Given the description of an element on the screen output the (x, y) to click on. 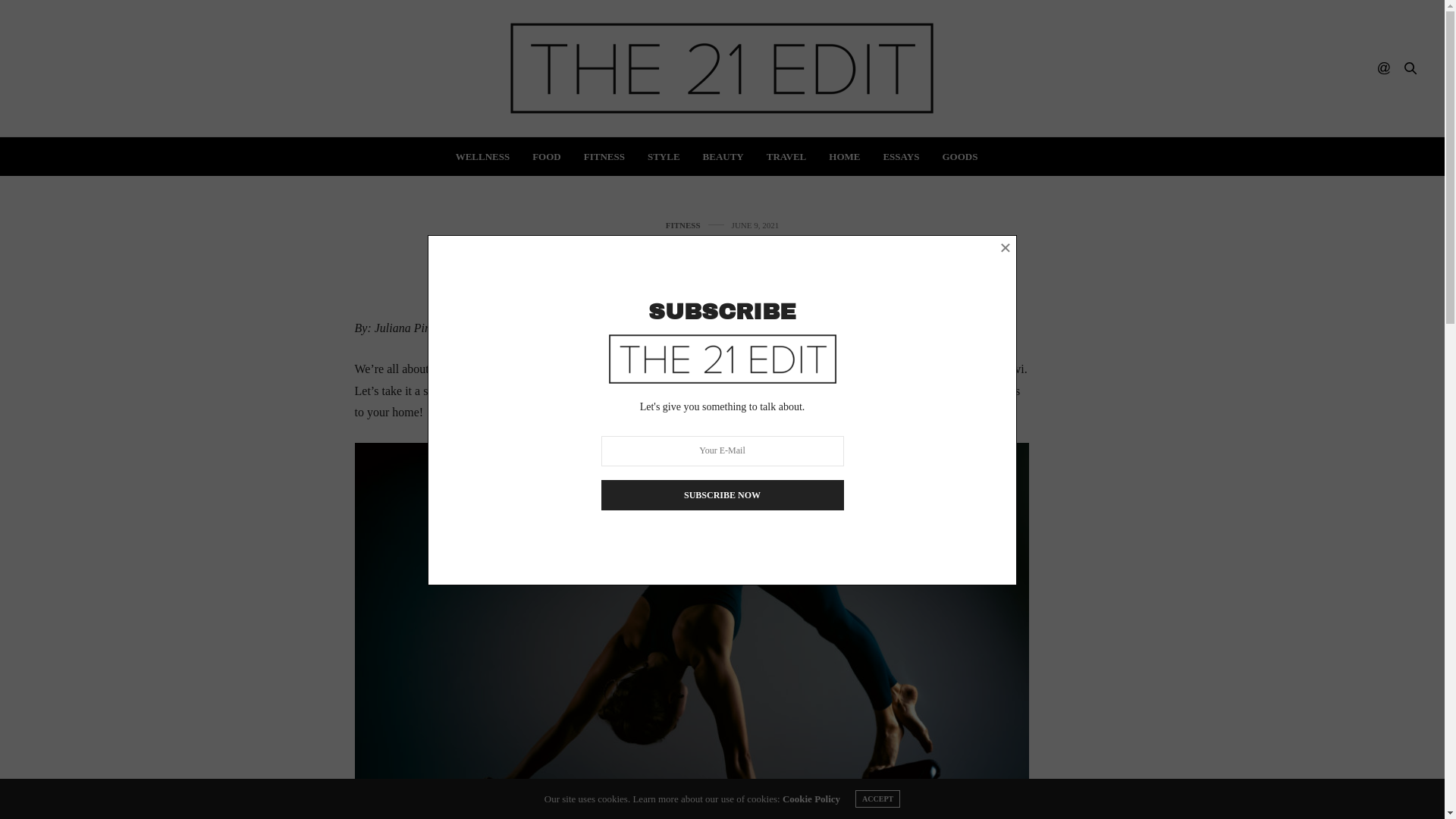
21 Edit Element type: hover (721, 67)
WELLNESS Element type: text (482, 156)
FITNESS Element type: text (682, 225)
ESSAYS Element type: text (900, 156)
TRAVEL Element type: text (786, 156)
FOOD Element type: text (546, 156)
SUBSCRIBE NOW Element type: text (721, 495)
FITNESS Element type: text (603, 156)
GOODS Element type: text (959, 156)
HOME Element type: text (843, 156)
ACCEPT Element type: text (877, 798)
BEAUTY Element type: text (722, 156)
STYLE Element type: text (663, 156)
Cookie Policy Element type: text (811, 798)
